Given the description of an element on the screen output the (x, y) to click on. 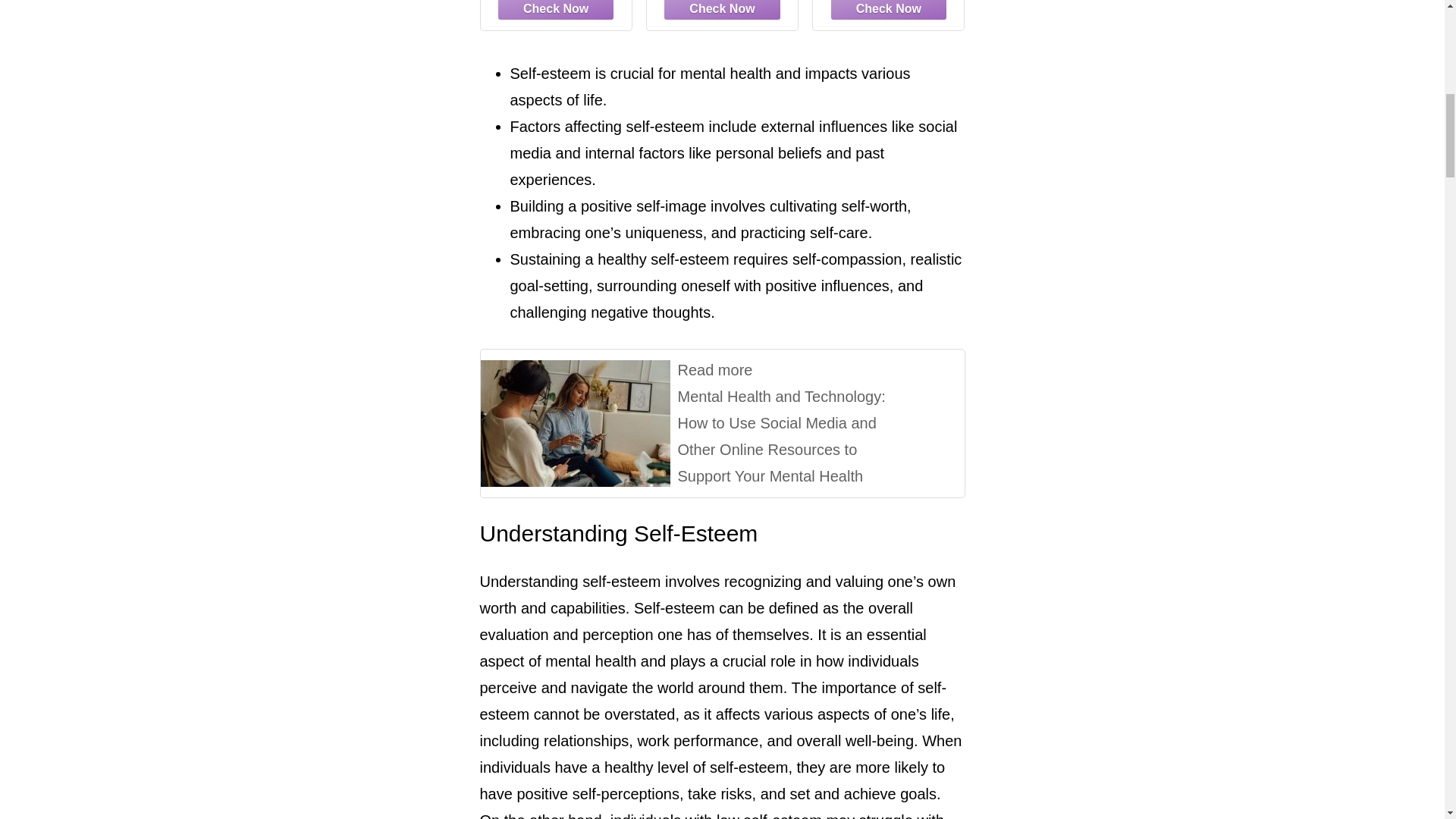
Amazon (556, 11)
Amazon (722, 11)
Amazon (888, 11)
